Given the description of an element on the screen output the (x, y) to click on. 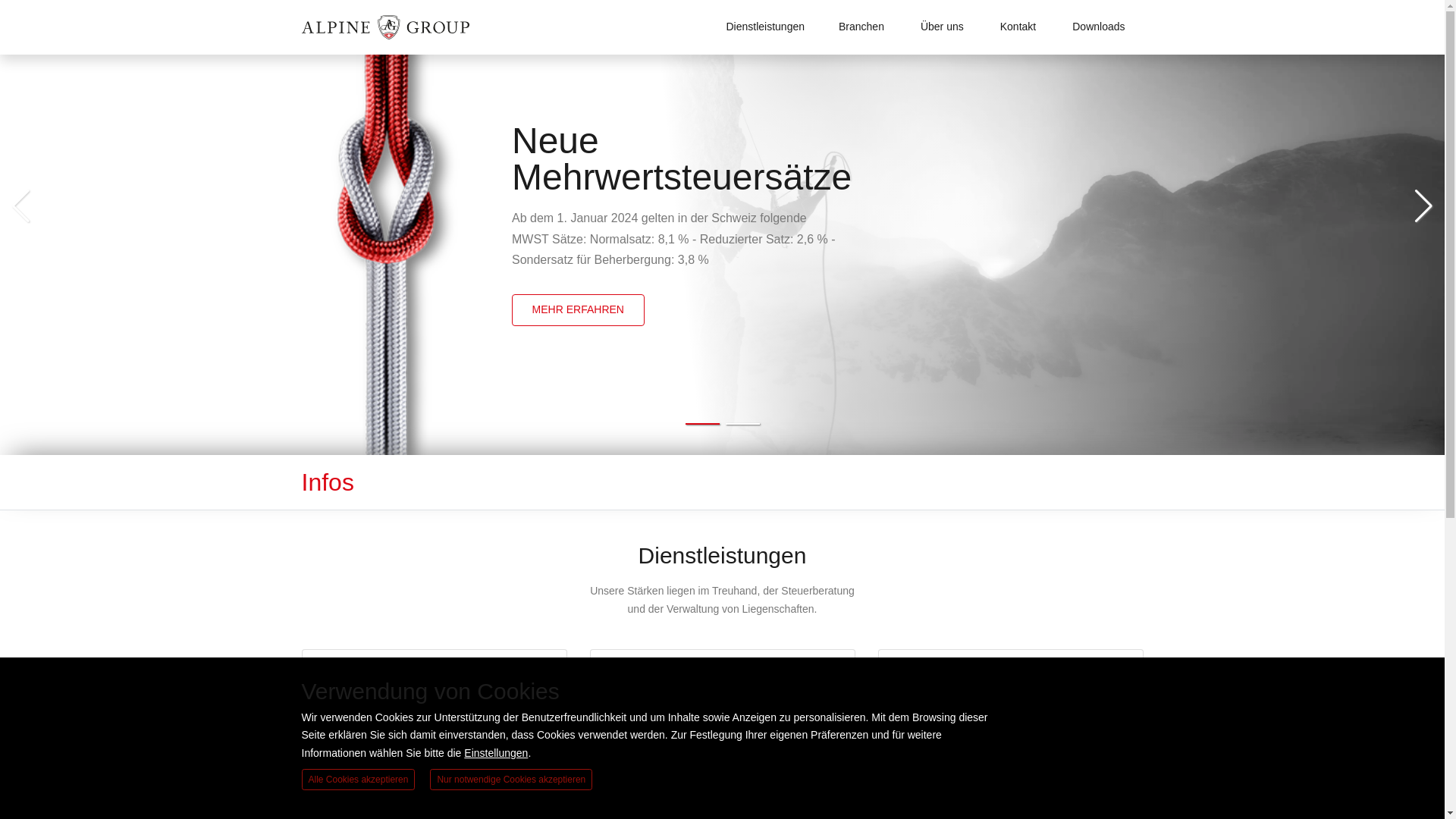
Treuhand Element type: text (433, 699)
Downloads Element type: text (1098, 27)
Dienstleistungen Element type: text (764, 27)
Kontakt Element type: text (1018, 27)
Einstellungen Element type: text (495, 752)
Liegenschaften Element type: text (721, 699)
Nur notwendige Cookies akzeptieren Element type: text (510, 779)
Branchen Element type: text (861, 27)
Alle Cookies akzeptieren Element type: text (358, 779)
MEHR ERFAHREN Element type: text (577, 310)
